Given the description of an element on the screen output the (x, y) to click on. 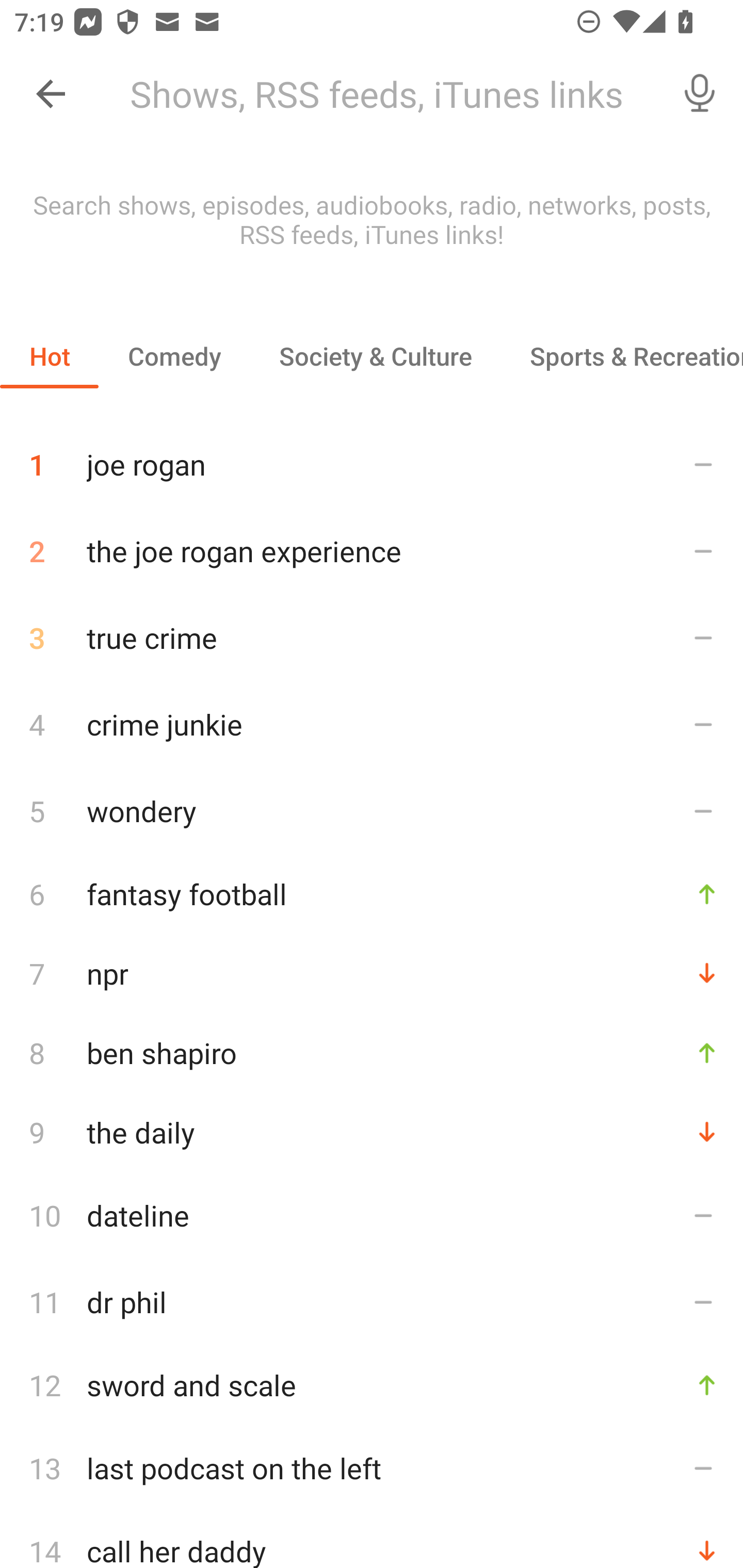
Collapse (50, 93)
Voice Search (699, 93)
Shows, RSS feeds, iTunes links (385, 94)
Hot (49, 355)
Comedy (173, 355)
Society & Culture (374, 355)
Sports & Recreation (621, 355)
1 joe rogan (371, 457)
2 the joe rogan experience (371, 551)
3 true crime (371, 637)
4 crime junkie (371, 723)
5 wondery (371, 810)
6 fantasy football (371, 893)
7 npr (371, 972)
8 ben shapiro (371, 1052)
9 the daily (371, 1131)
10 dateline (371, 1215)
11 dr phil (371, 1302)
12 sword and scale (371, 1385)
13 last podcast on the left (371, 1468)
14 call her daddy (371, 1539)
